Given the description of an element on the screen output the (x, y) to click on. 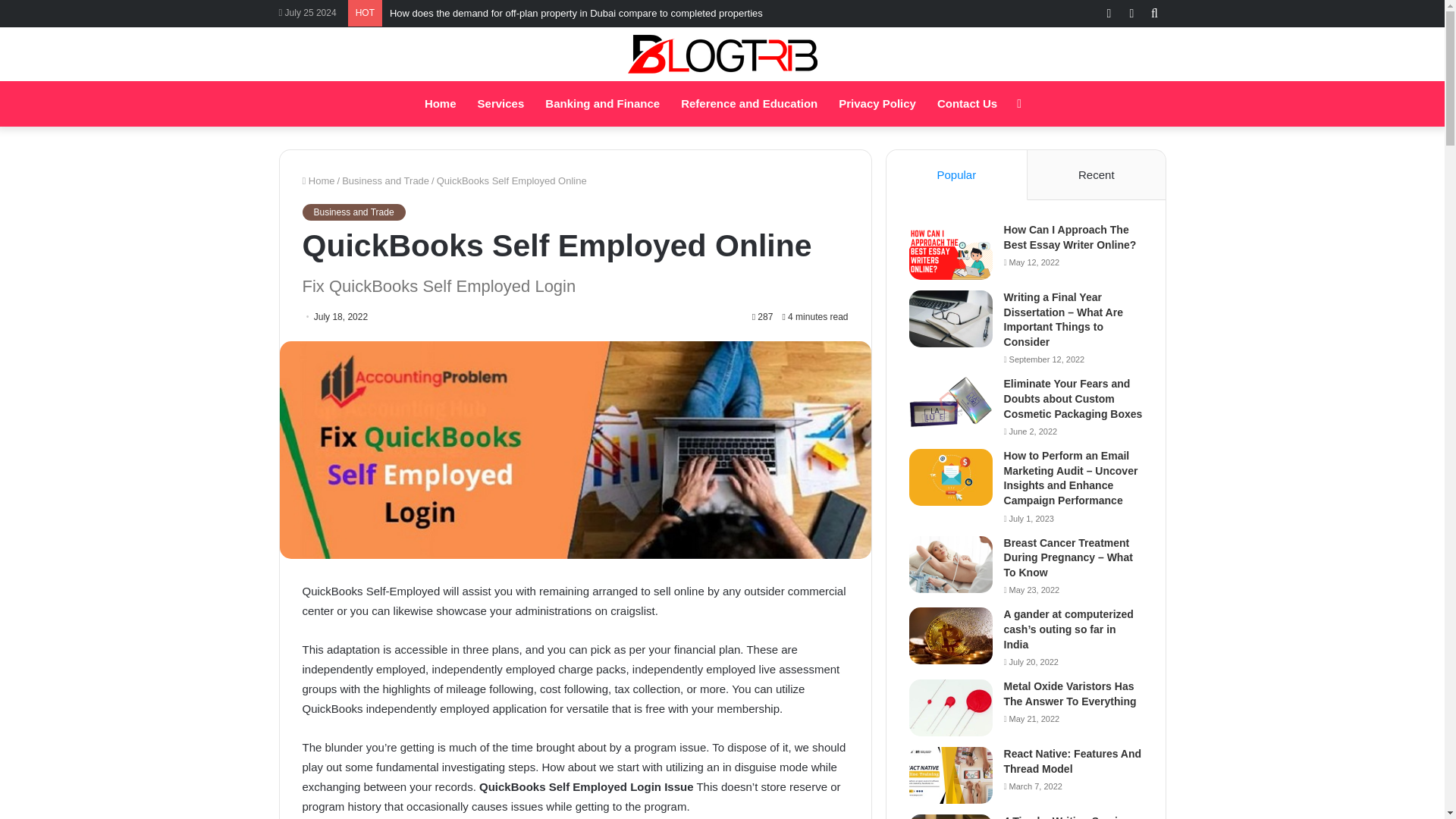
Home (440, 103)
Banking and Finance (601, 103)
Contact Us (966, 103)
Privacy Policy (877, 103)
Reference and Education (748, 103)
Services (501, 103)
Business and Trade (385, 180)
Home (317, 180)
Business and Trade (352, 211)
Blog Trib (721, 54)
